Given the description of an element on the screen output the (x, y) to click on. 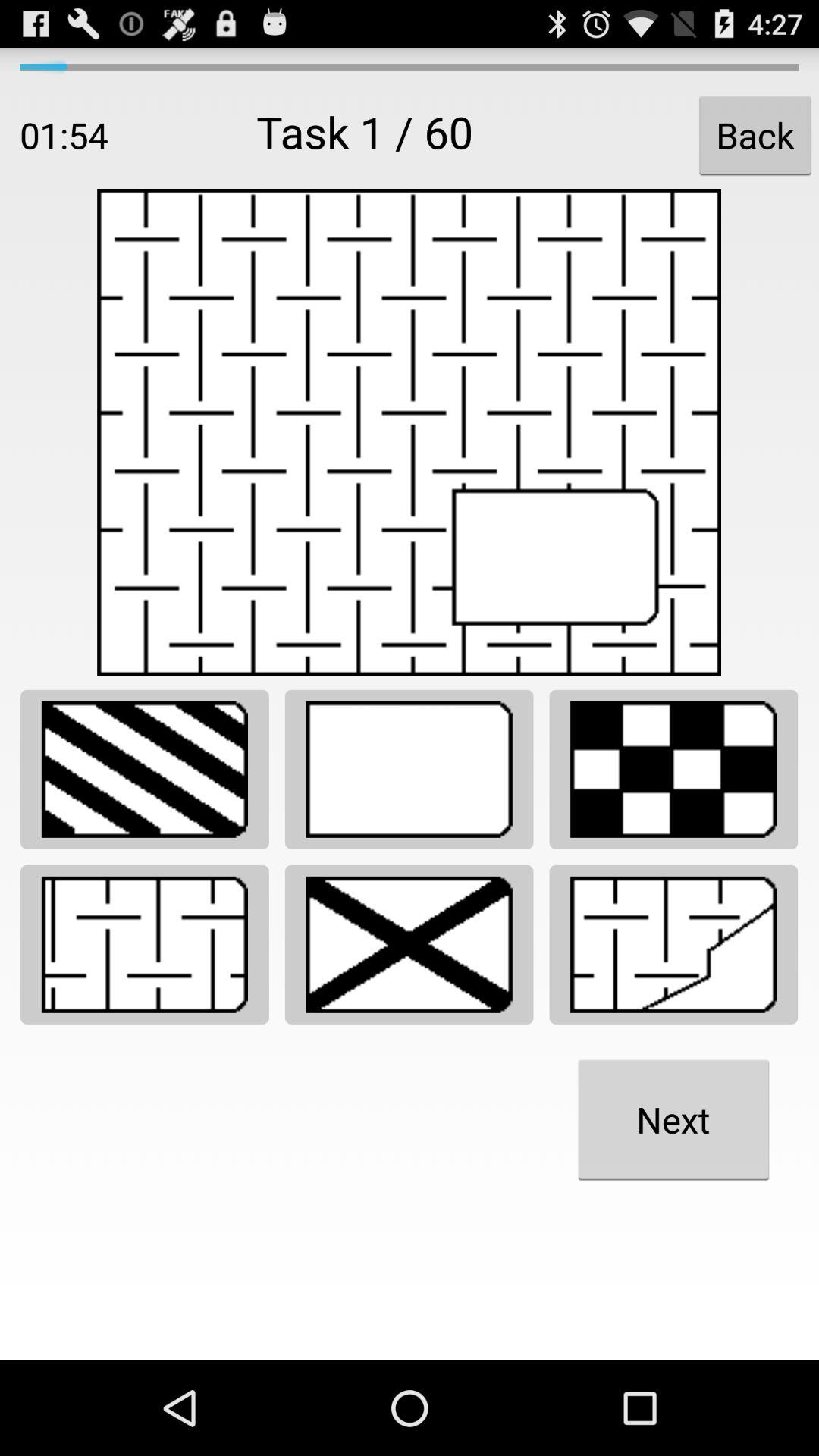
layout change (144, 769)
